Given the description of an element on the screen output the (x, y) to click on. 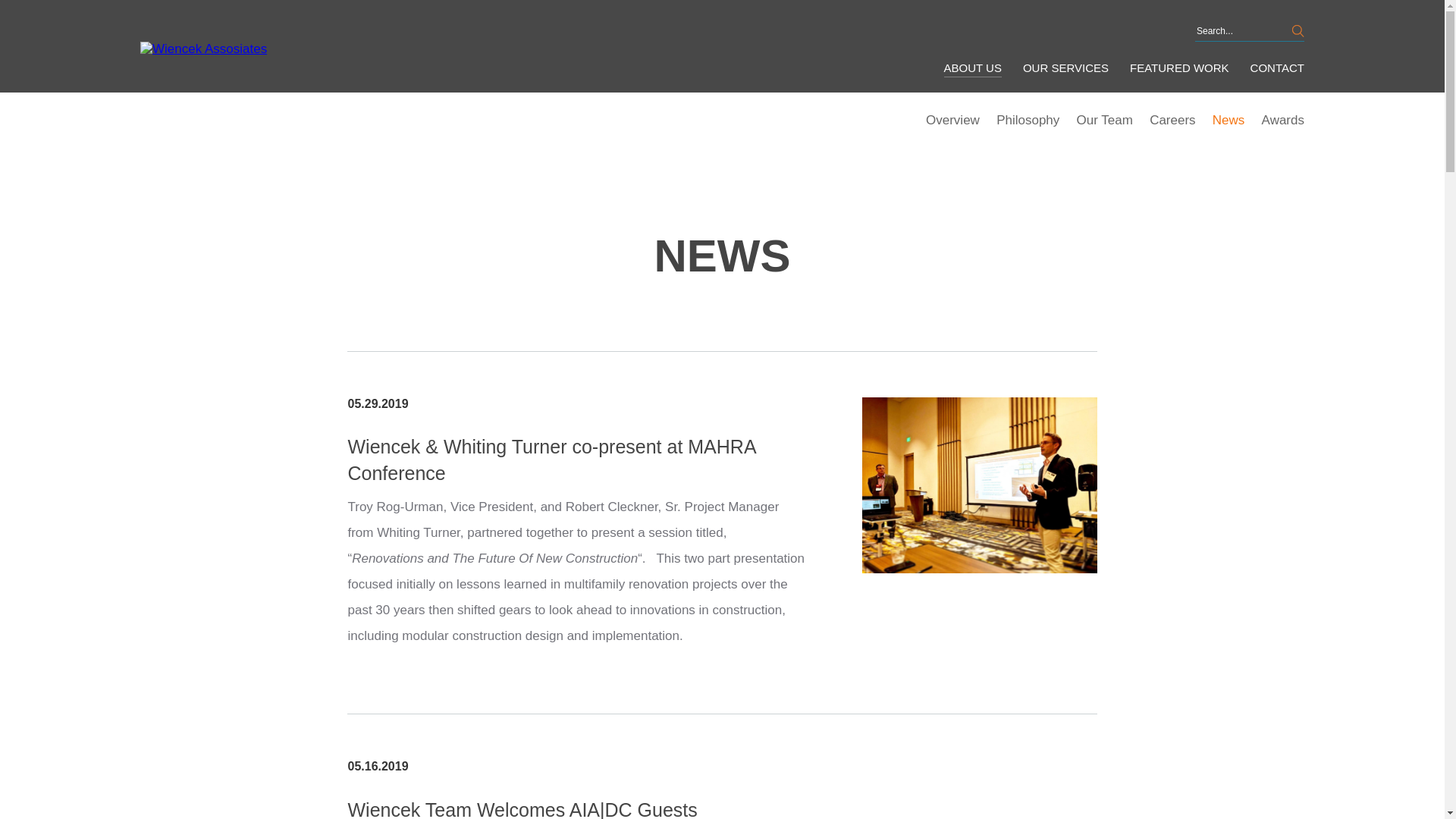
Philosophy (1027, 120)
News (1228, 120)
Careers (1172, 120)
Our Team (1104, 120)
CONTACT (1277, 68)
Awards (1283, 120)
Overview (952, 120)
ABOUT US (972, 68)
FEATURED WORK (1178, 68)
OUR SERVICES (1065, 68)
